Given the description of an element on the screen output the (x, y) to click on. 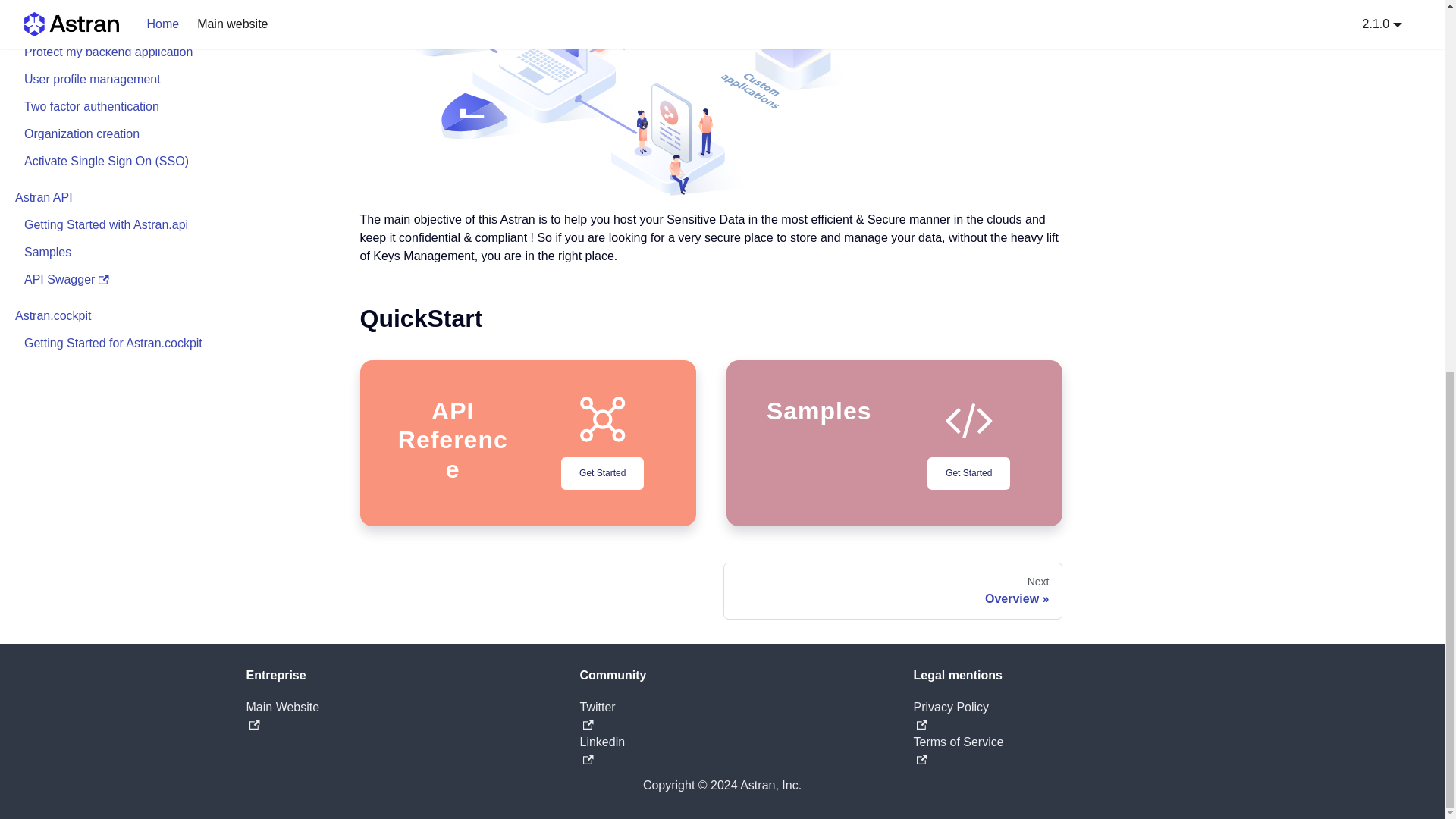
Get Started (968, 473)
Get Started (892, 590)
